Given the description of an element on the screen output the (x, y) to click on. 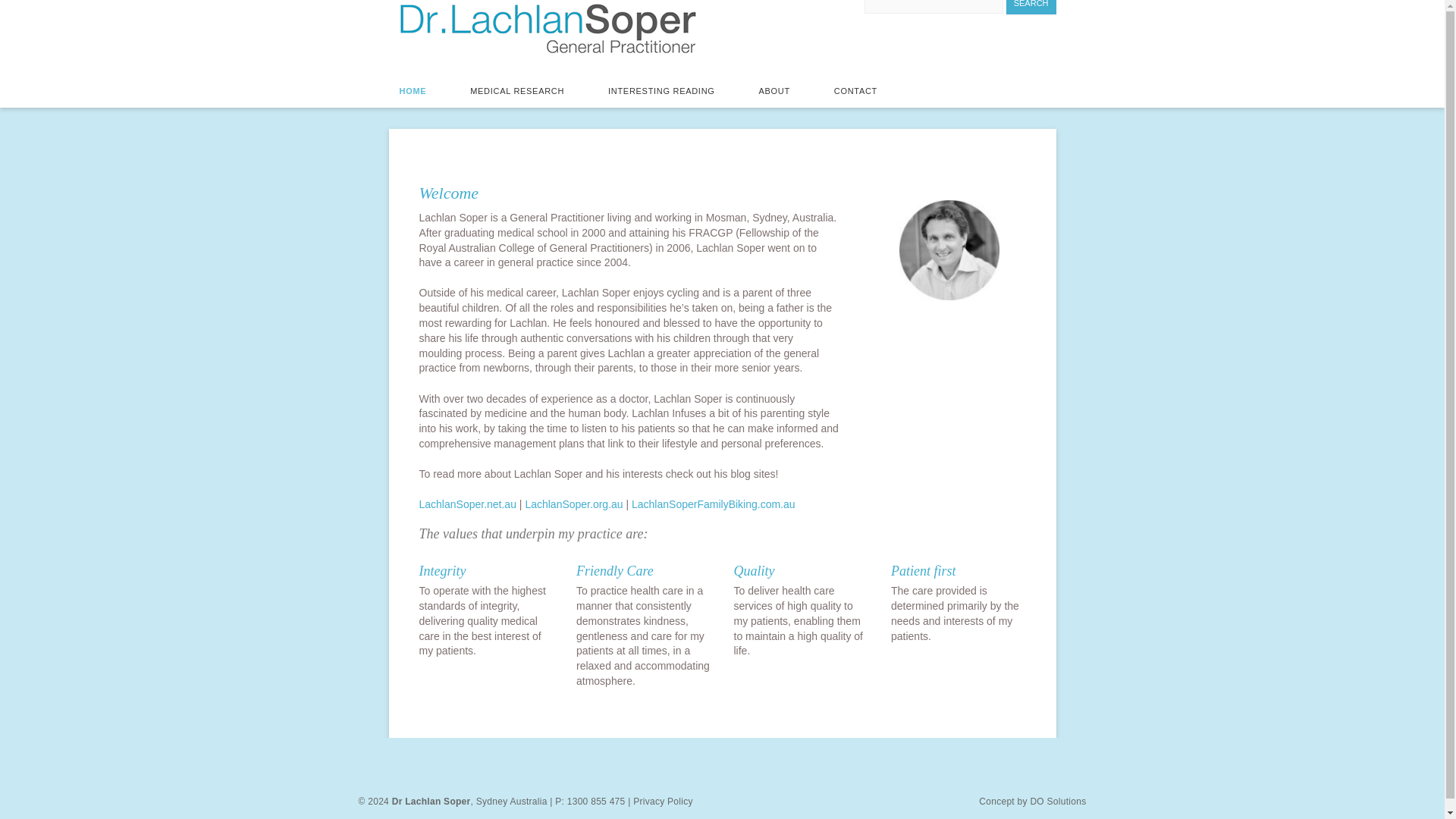
Search (1031, 7)
LachlanSoperFamilyBiking.com.au (712, 503)
MEDICAL RESEARCH (517, 91)
CONTACT (855, 91)
 Privacy Policy (661, 801)
ABOUT (773, 91)
DrLachlanSoper (948, 249)
Concept by DO Solutions (1032, 801)
